Given the description of an element on the screen output the (x, y) to click on. 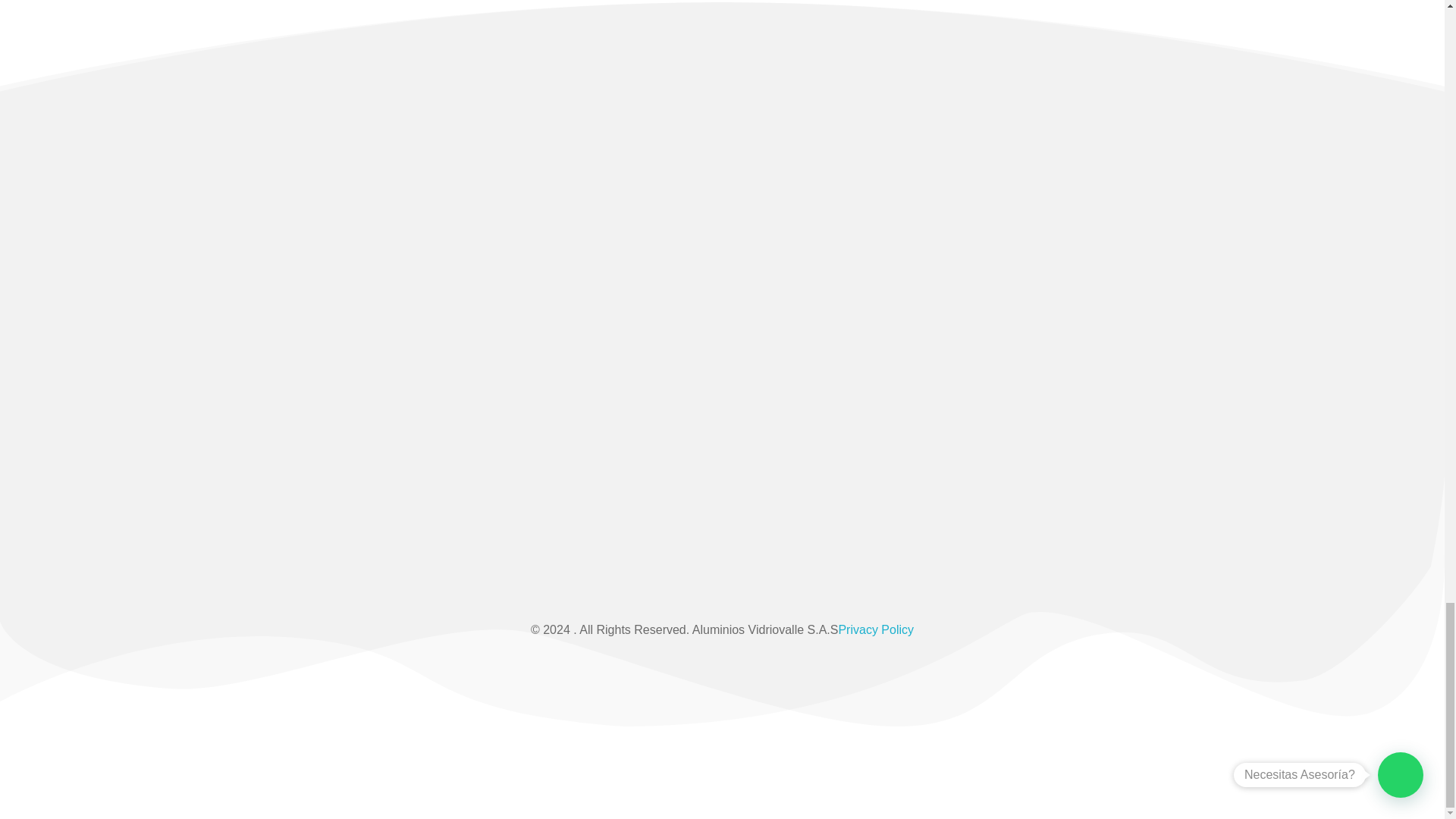
SUBMIT (1253, 378)
Privacy Policy (876, 629)
